Given the description of an element on the screen output the (x, y) to click on. 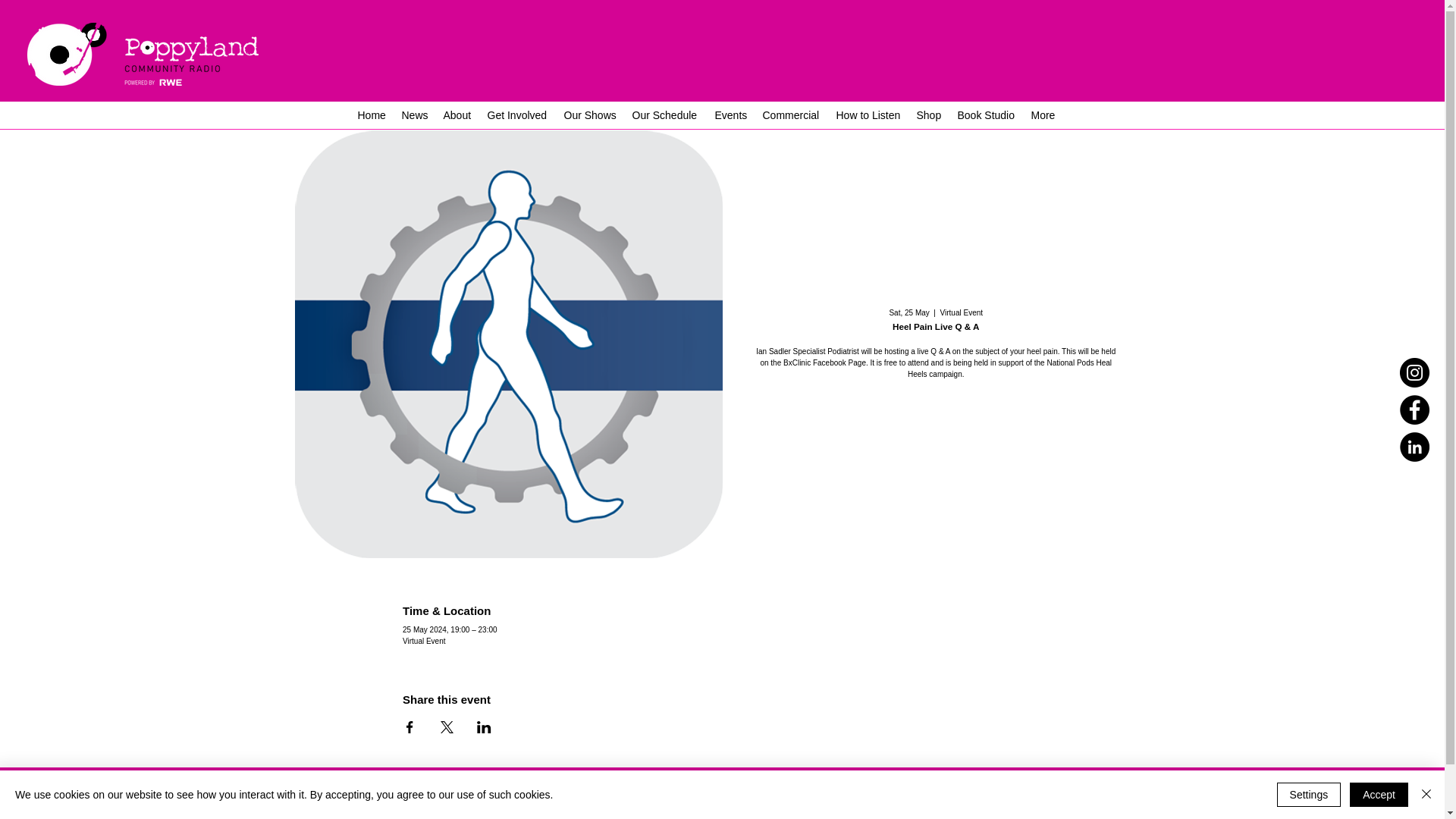
Book Studio (986, 115)
News (414, 115)
Settings (1308, 794)
Shop (928, 115)
Our Schedule (665, 115)
Commercial (791, 115)
Embedded Content (1285, 55)
Events (730, 115)
Get Involved (517, 115)
Our Shows (590, 115)
